Given the description of an element on the screen output the (x, y) to click on. 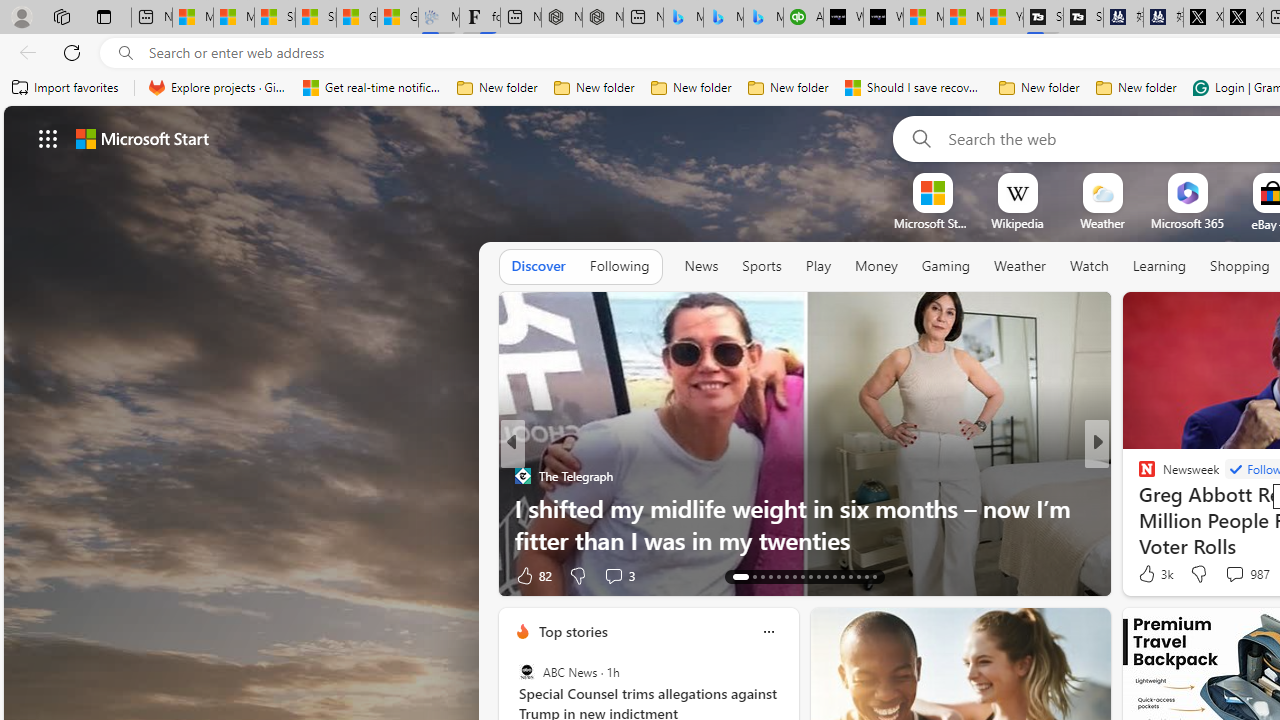
AutomationID: tab-26 (850, 576)
View comments 18 Comment (1244, 574)
POLITICO (1138, 475)
AutomationID: tab-16 (769, 576)
View comments 18 Comment (1234, 575)
View comments 22 Comment (1244, 574)
View comments 52 Comment (1229, 575)
